Given the description of an element on the screen output the (x, y) to click on. 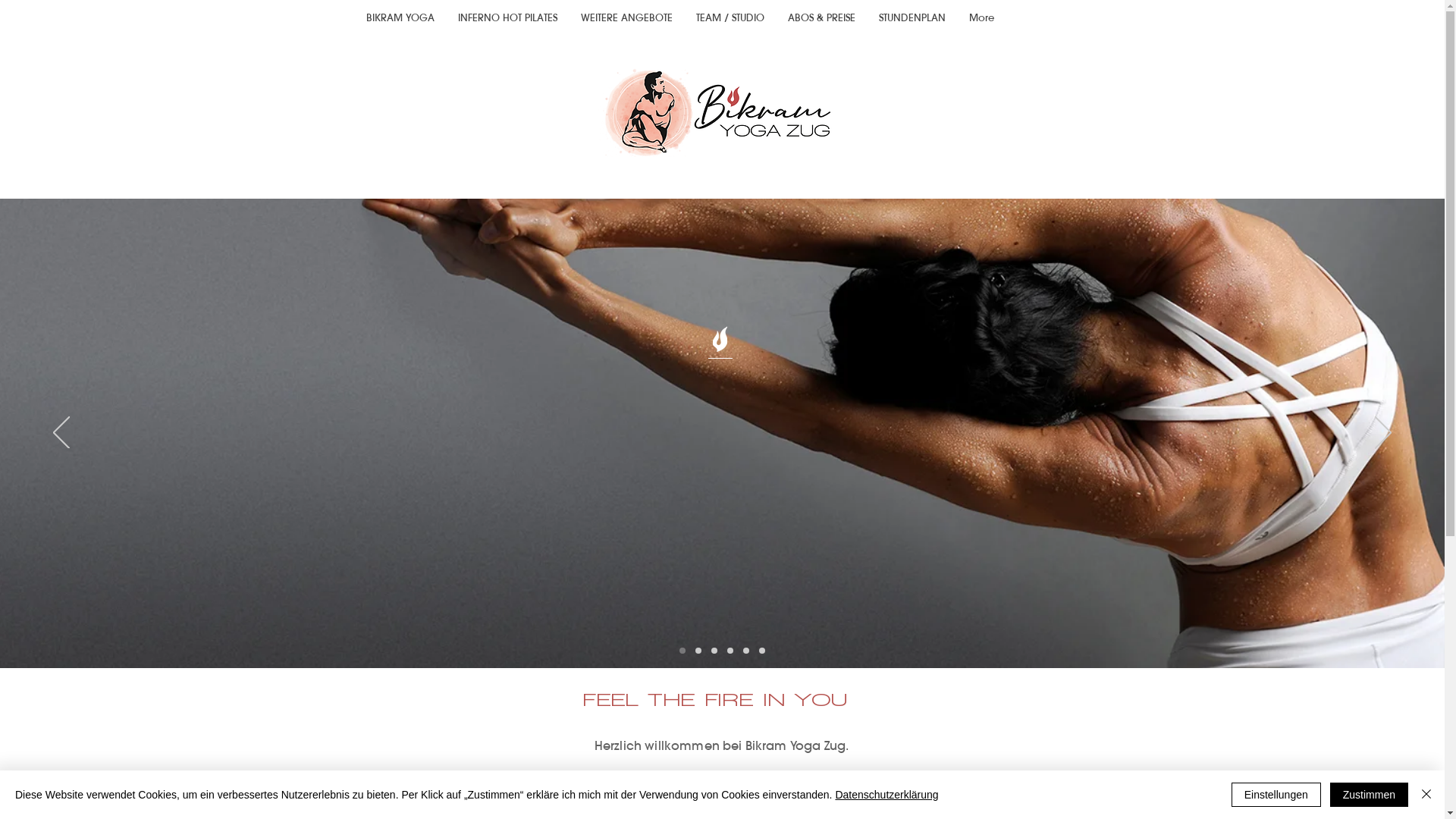
INFERNO HOT PILATES Element type: text (506, 18)
Einstellungen Element type: text (1276, 794)
BIKRAM YOGA Element type: text (399, 18)
STUNDENPLAN Element type: text (911, 18)
Zustimmen Element type: text (1369, 794)
ABOS & PREISE Element type: text (820, 18)
